Given the description of an element on the screen output the (x, y) to click on. 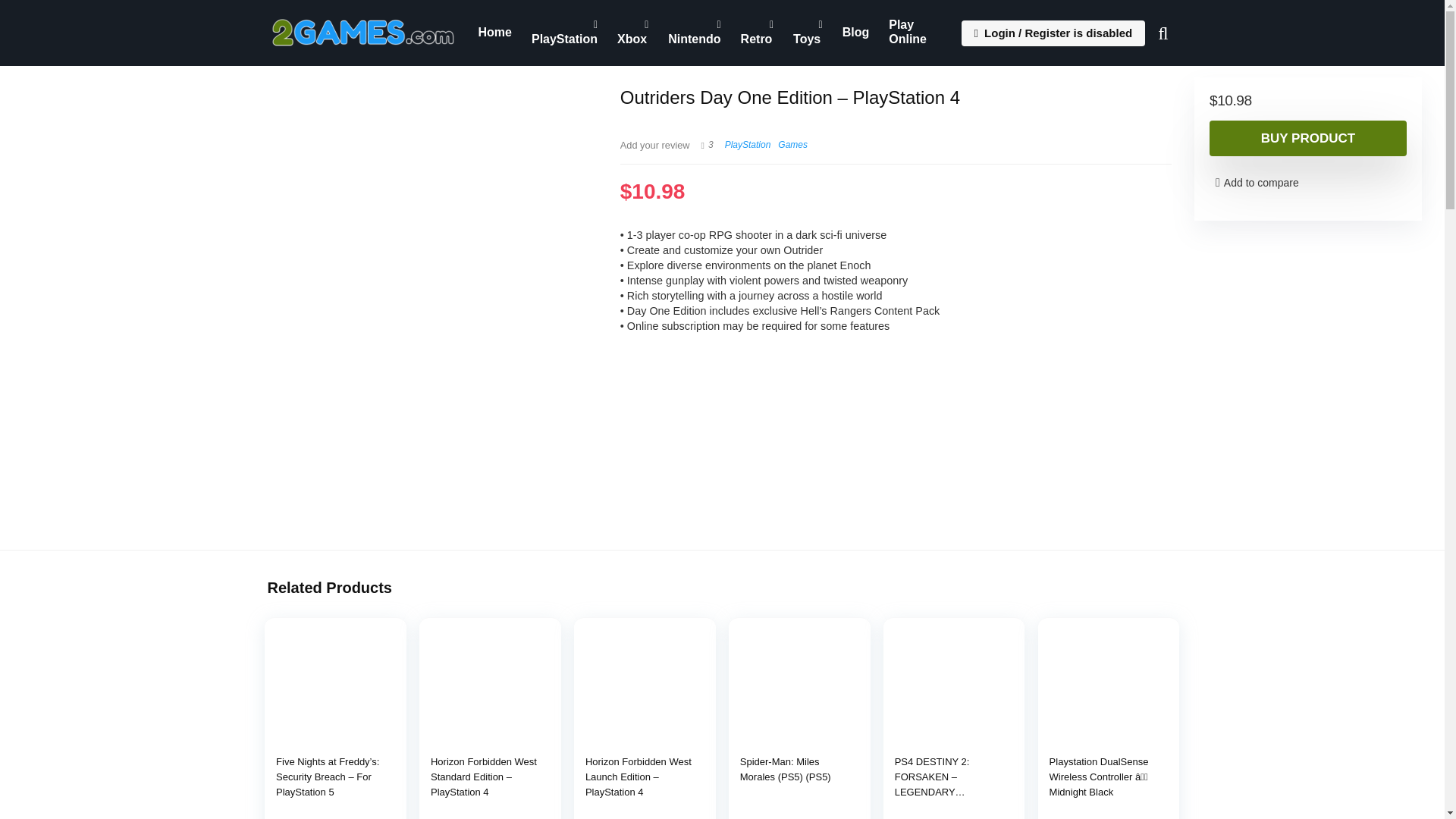
Add your review (655, 144)
Blog (855, 32)
View all posts in PlayStation (748, 144)
Play Online (916, 32)
PlayStation (564, 32)
Toys (807, 32)
Xbox (632, 32)
BUY PRODUCT (1307, 138)
PlayStation (748, 144)
Games (792, 144)
